Given the description of an element on the screen output the (x, y) to click on. 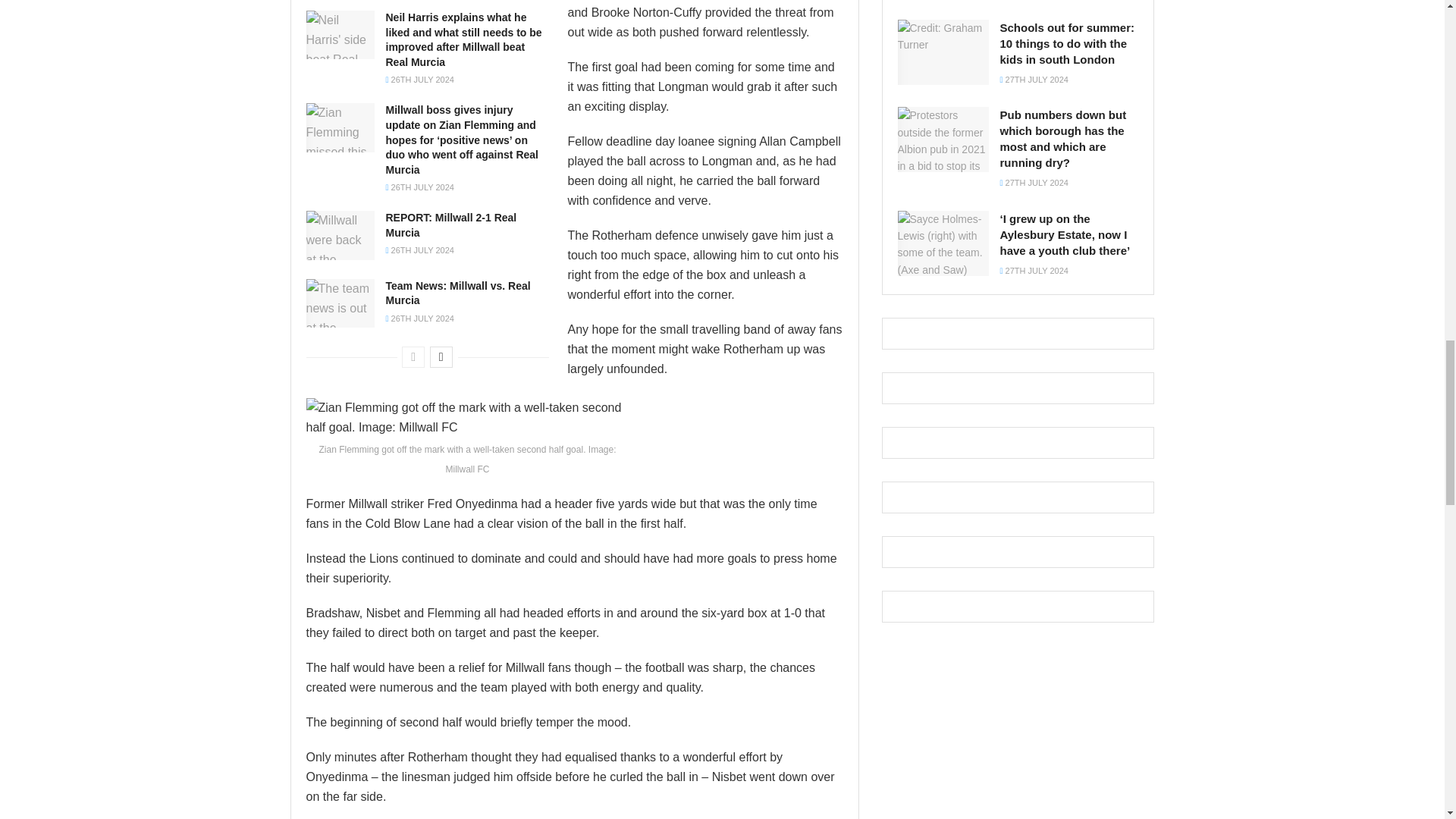
Next (440, 356)
Previous (413, 356)
